Given the description of an element on the screen output the (x, y) to click on. 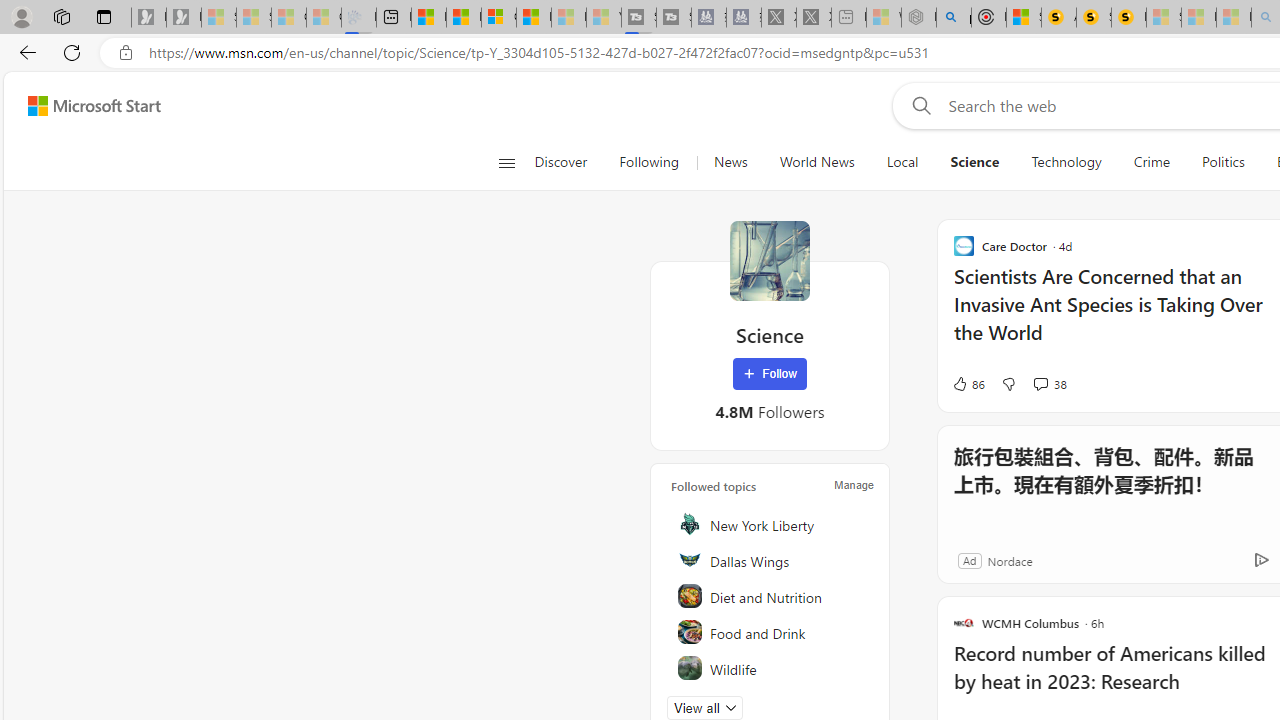
News (729, 162)
View comments 38 Comment (1049, 384)
Nordace - Summer Adventures 2024 - Sleeping (918, 17)
Wildlife - MSN - Sleeping (883, 17)
Local (902, 162)
Crime (1151, 162)
